Given the description of an element on the screen output the (x, y) to click on. 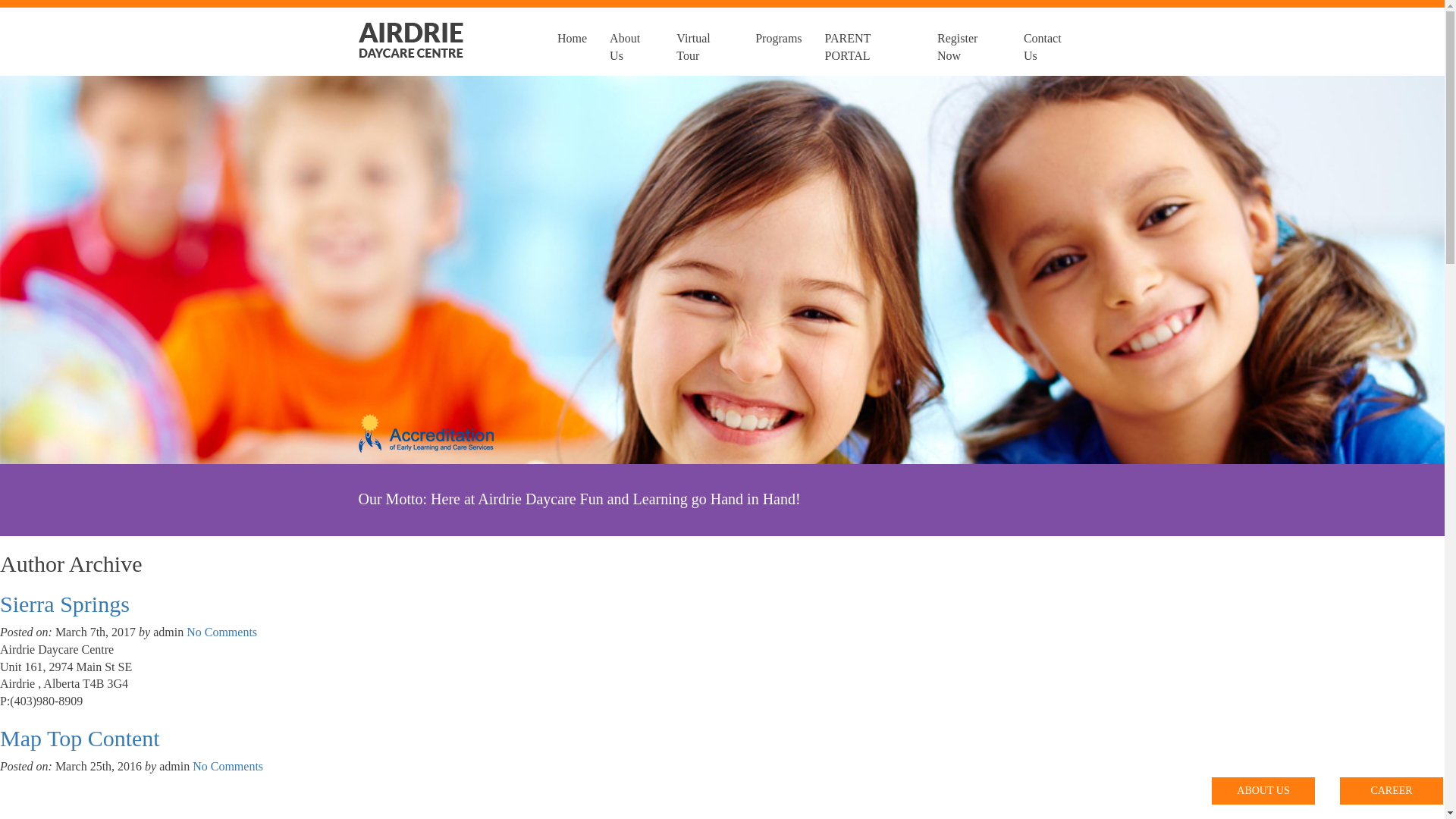
PARENT PORTAL Element type: text (869, 41)
About Us Element type: text (631, 41)
Virtual Tour Element type: text (704, 41)
Home Element type: text (572, 41)
Map Top Content Element type: text (80, 737)
CAREER Element type: text (1391, 790)
Sierra Springs Element type: text (64, 603)
Contact Us Element type: text (1049, 41)
No Comments Element type: text (227, 765)
No Comments Element type: text (221, 631)
Programs Element type: text (777, 41)
ABOUT US Element type: text (1262, 790)
Register Now Element type: text (968, 41)
